Given the description of an element on the screen output the (x, y) to click on. 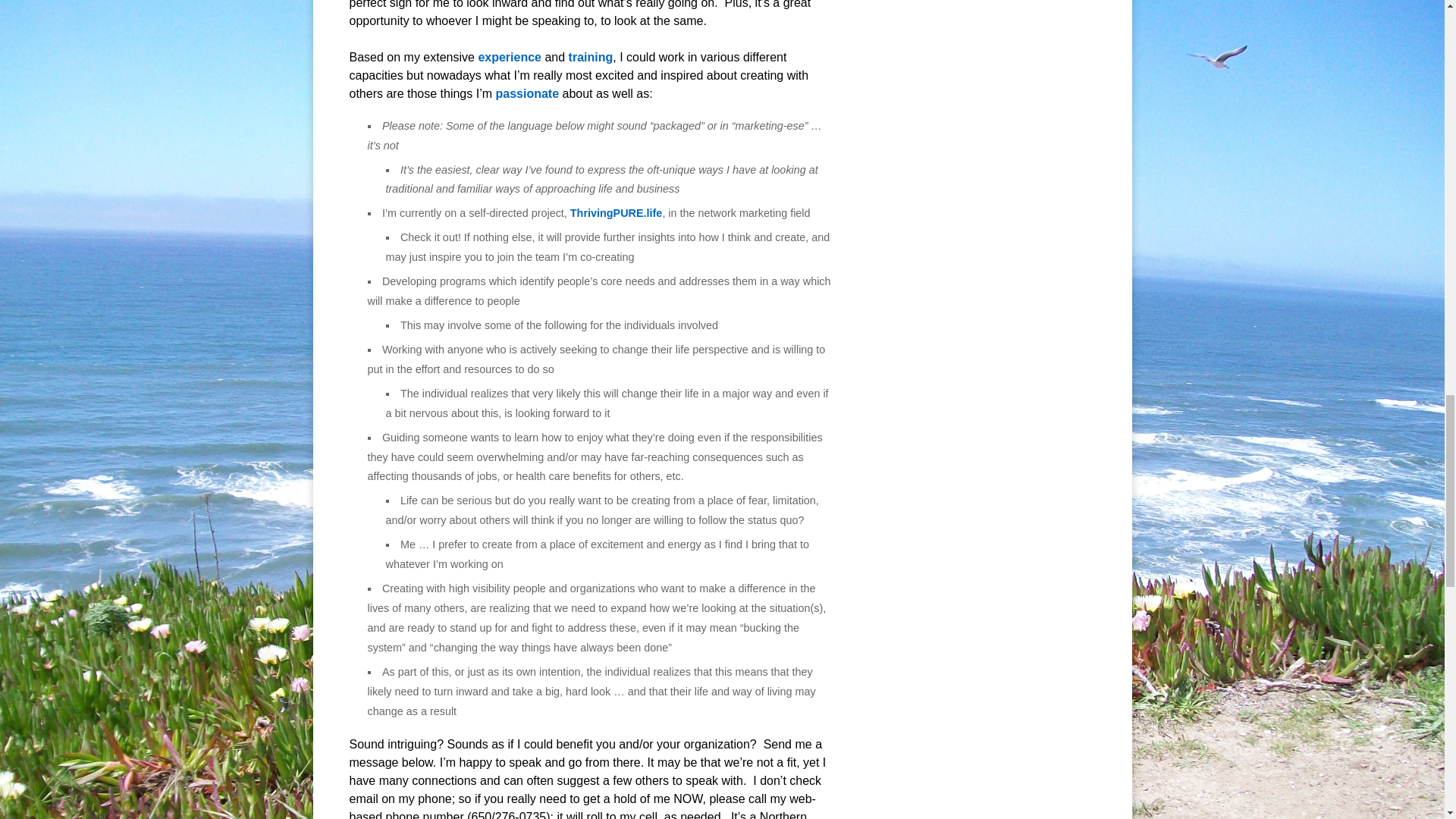
passionate (527, 92)
training (590, 56)
ThrivingPURE.life (616, 213)
experience (509, 56)
